Given the description of an element on the screen output the (x, y) to click on. 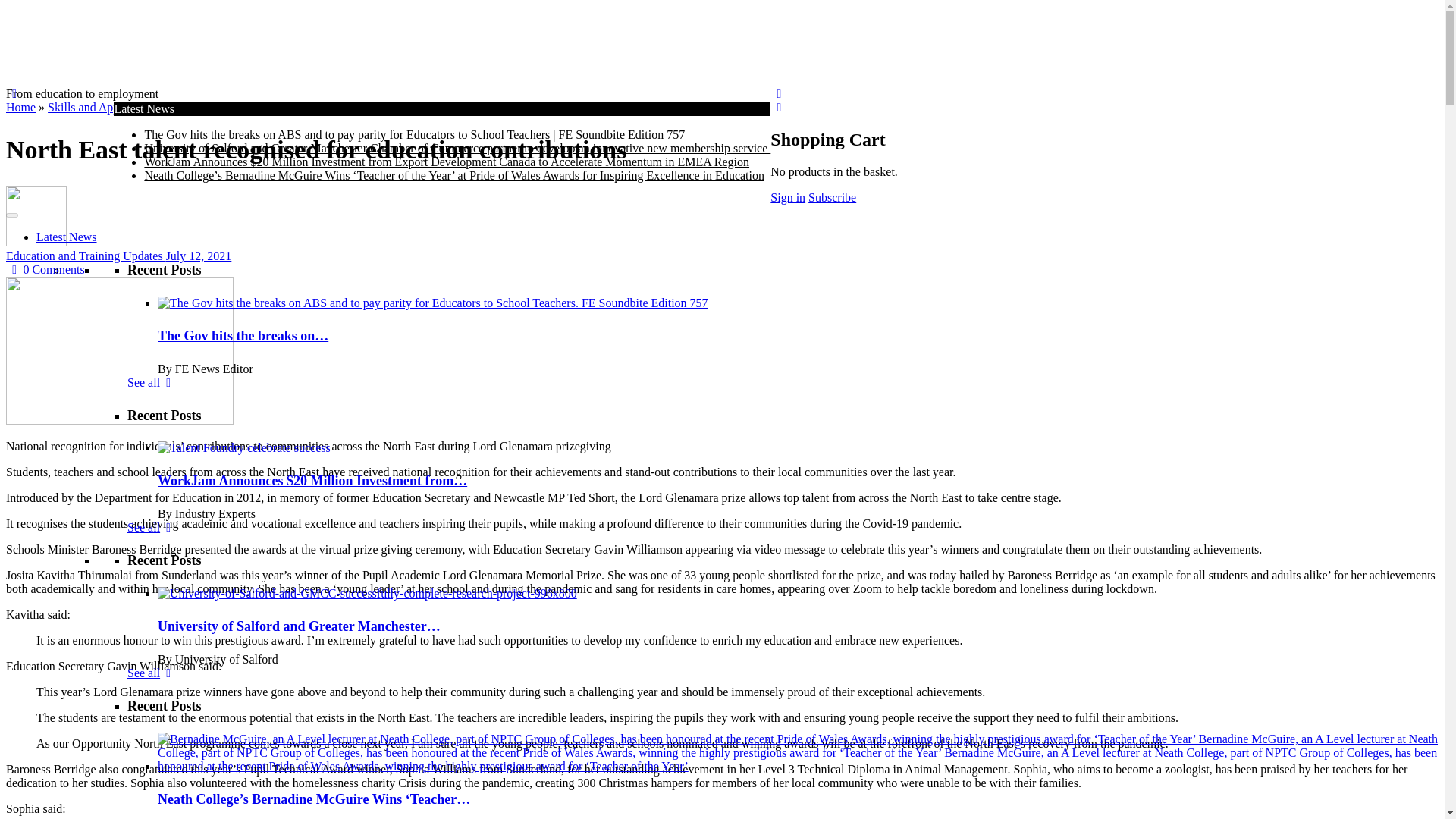
Subscribe (832, 196)
See all (152, 672)
Sign in (787, 196)
Latest News (66, 236)
See all (152, 526)
See all (152, 382)
